Given the description of an element on the screen output the (x, y) to click on. 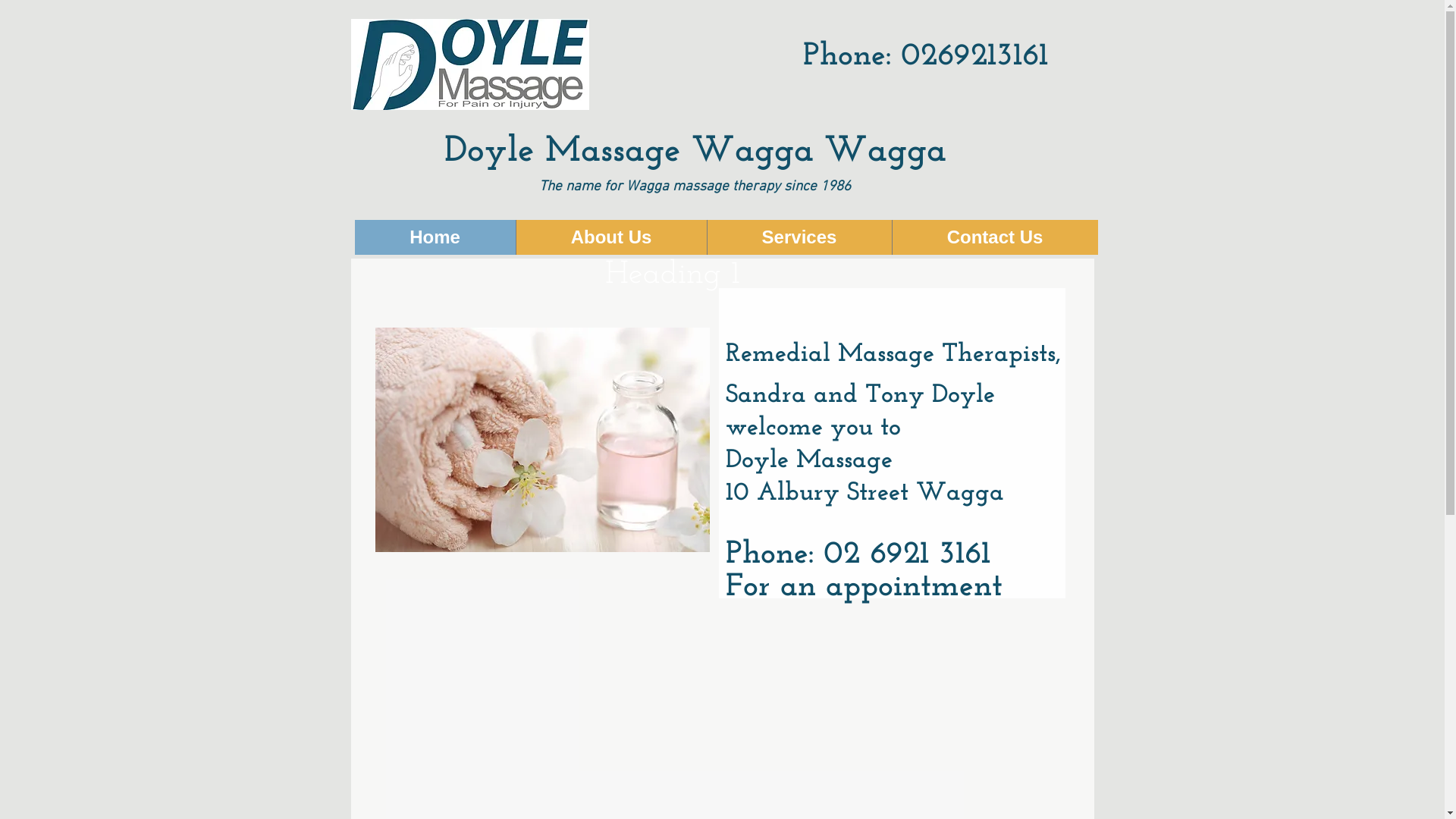
Doyle Massage Logo Colour_small.jpg Element type: hover (469, 63)
The name for Wagga massage therapy since 1986 Element type: text (694, 186)
Services Element type: text (798, 236)
Contact Us Element type: text (994, 236)
About Us Element type: text (610, 236)
Doyle Massage Wagga Wagga Element type: text (695, 151)
Home Element type: text (434, 236)
